Given the description of an element on the screen output the (x, y) to click on. 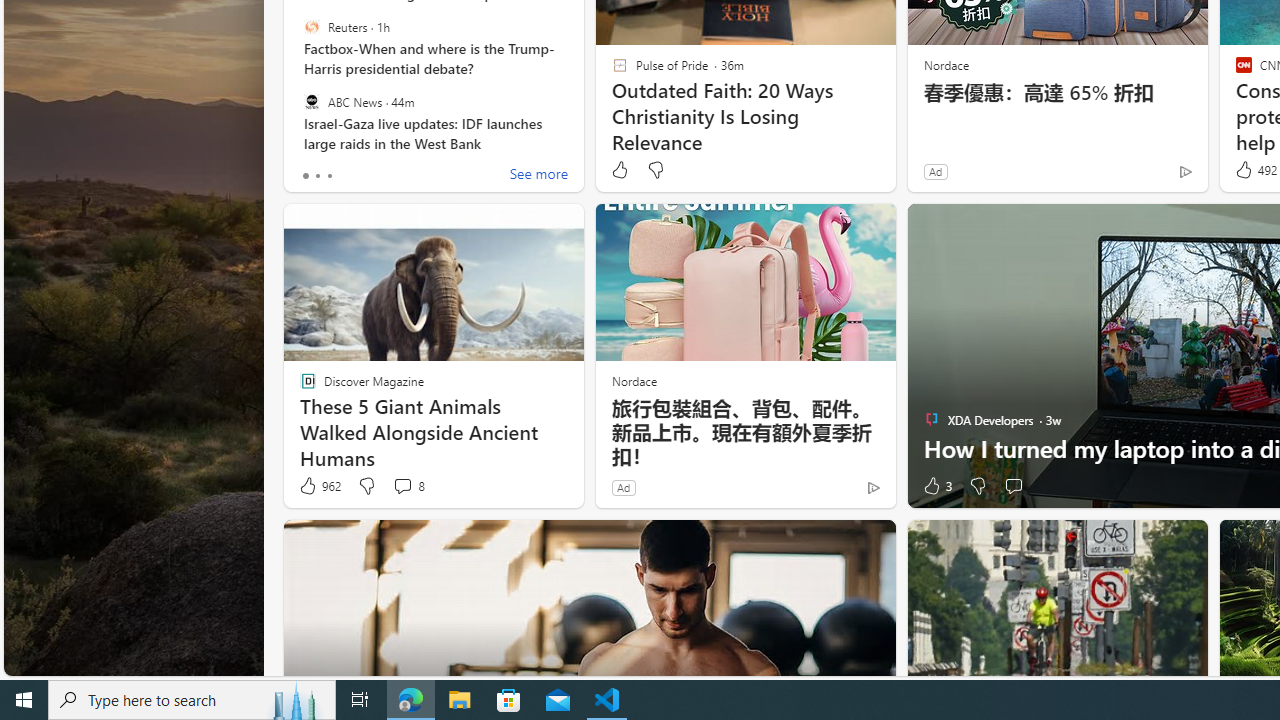
Like (619, 170)
ABC News (311, 101)
View comments 8 Comment (402, 485)
tab-1 (317, 175)
Ad Choice (873, 487)
Ad (623, 487)
3 Like (936, 485)
962 Like (319, 485)
Nordace (633, 380)
Dislike (976, 485)
Reuters (311, 27)
View comments 8 Comment (408, 485)
